Given the description of an element on the screen output the (x, y) to click on. 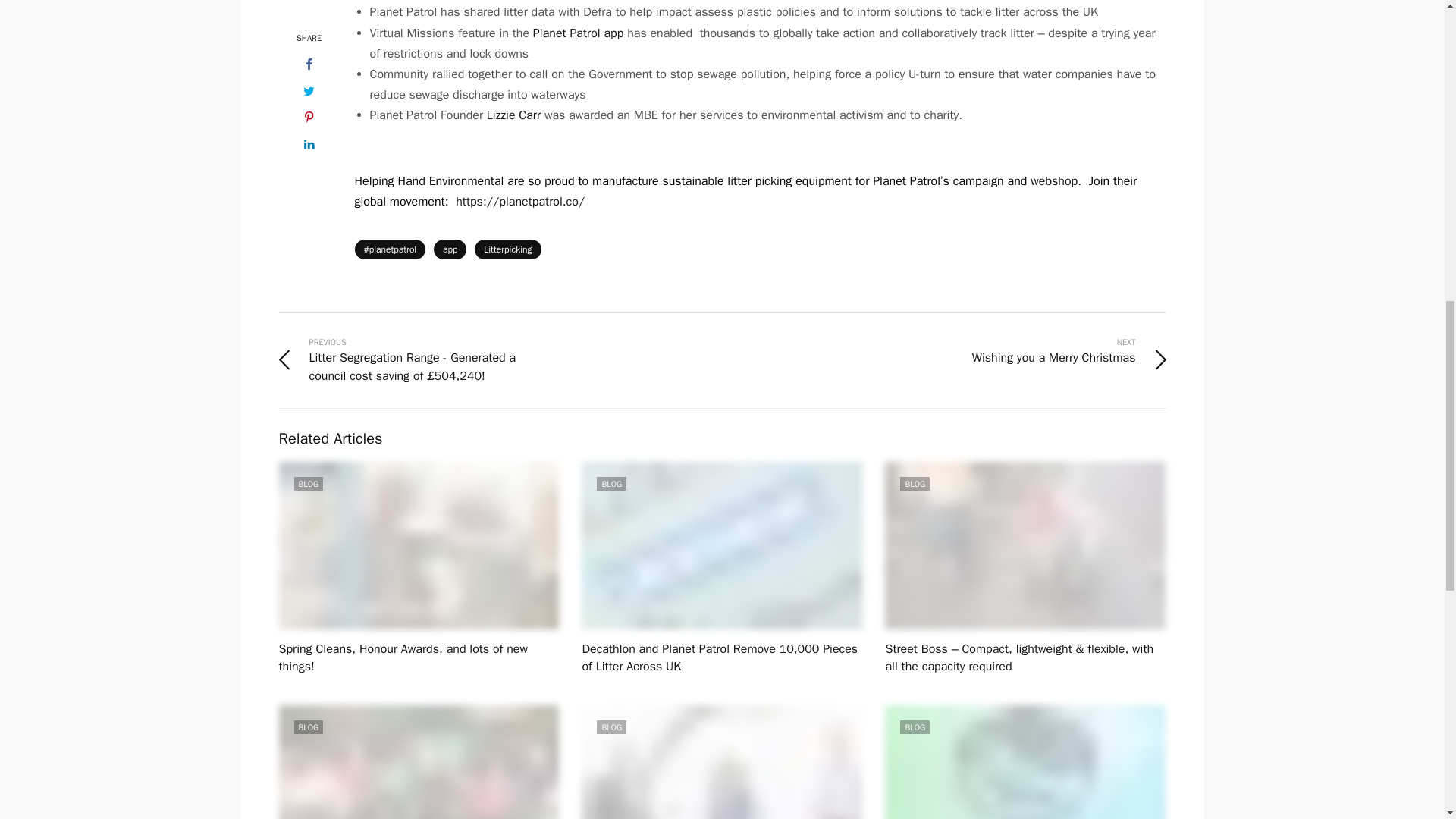
Removing Mountains of Waste (1025, 762)
Spring Cleans, Honour Awards, and lots of new things! (419, 545)
Planet Patrol app (577, 32)
Lizzie Carr (513, 114)
Spring Cleans, Honour Awards, and lots of new things! (403, 657)
Leicester schools Litter Less campaign success (419, 762)
